Given the description of an element on the screen output the (x, y) to click on. 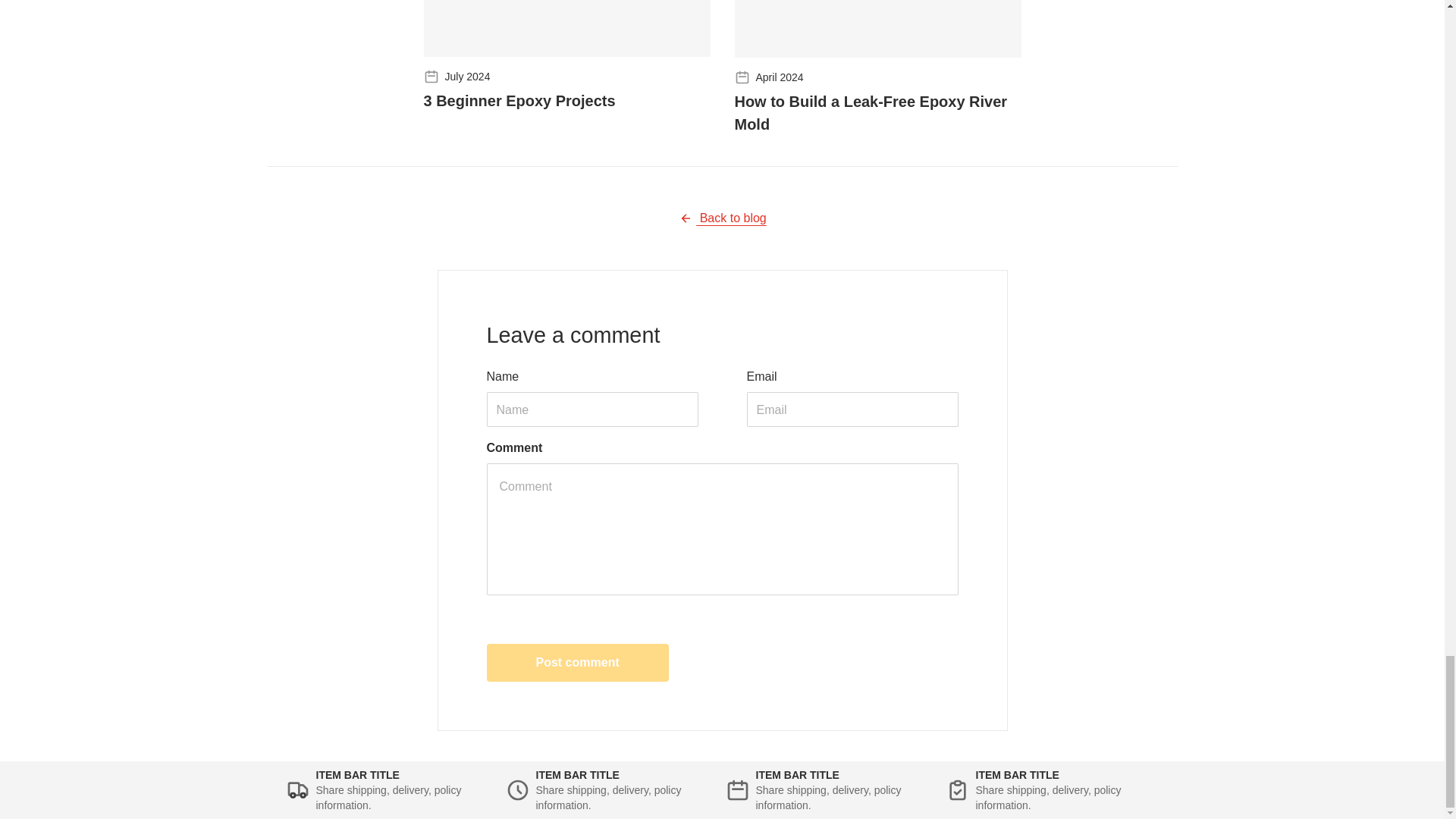
Post comment (577, 662)
